Given the description of an element on the screen output the (x, y) to click on. 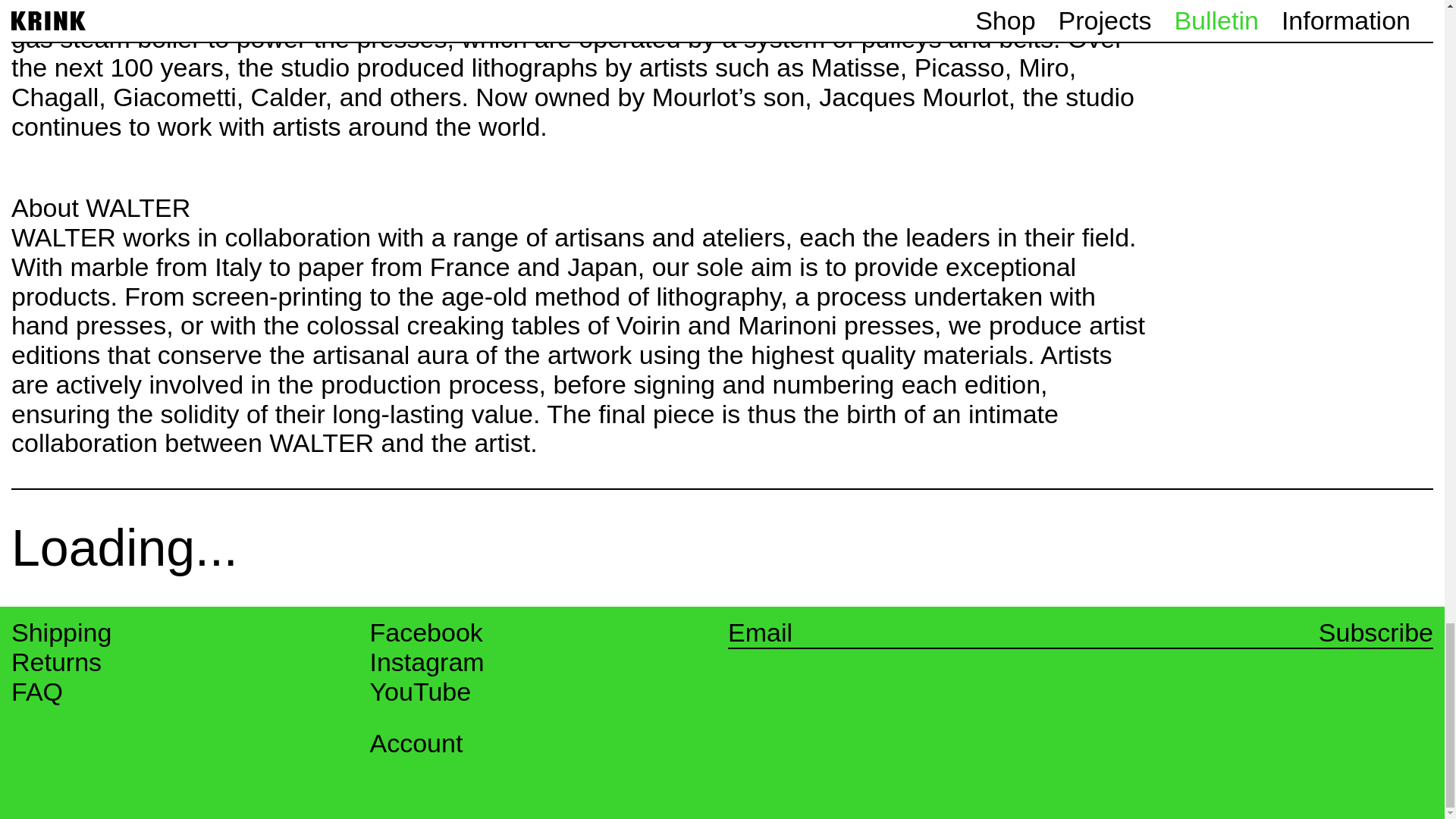
YouTube (420, 691)
FAQ (36, 691)
Shipping (61, 632)
Instagram (426, 662)
Account (416, 743)
Subscribe (1375, 632)
Subscribe (1375, 632)
Returns (56, 662)
Facebook (426, 632)
